Given the description of an element on the screen output the (x, y) to click on. 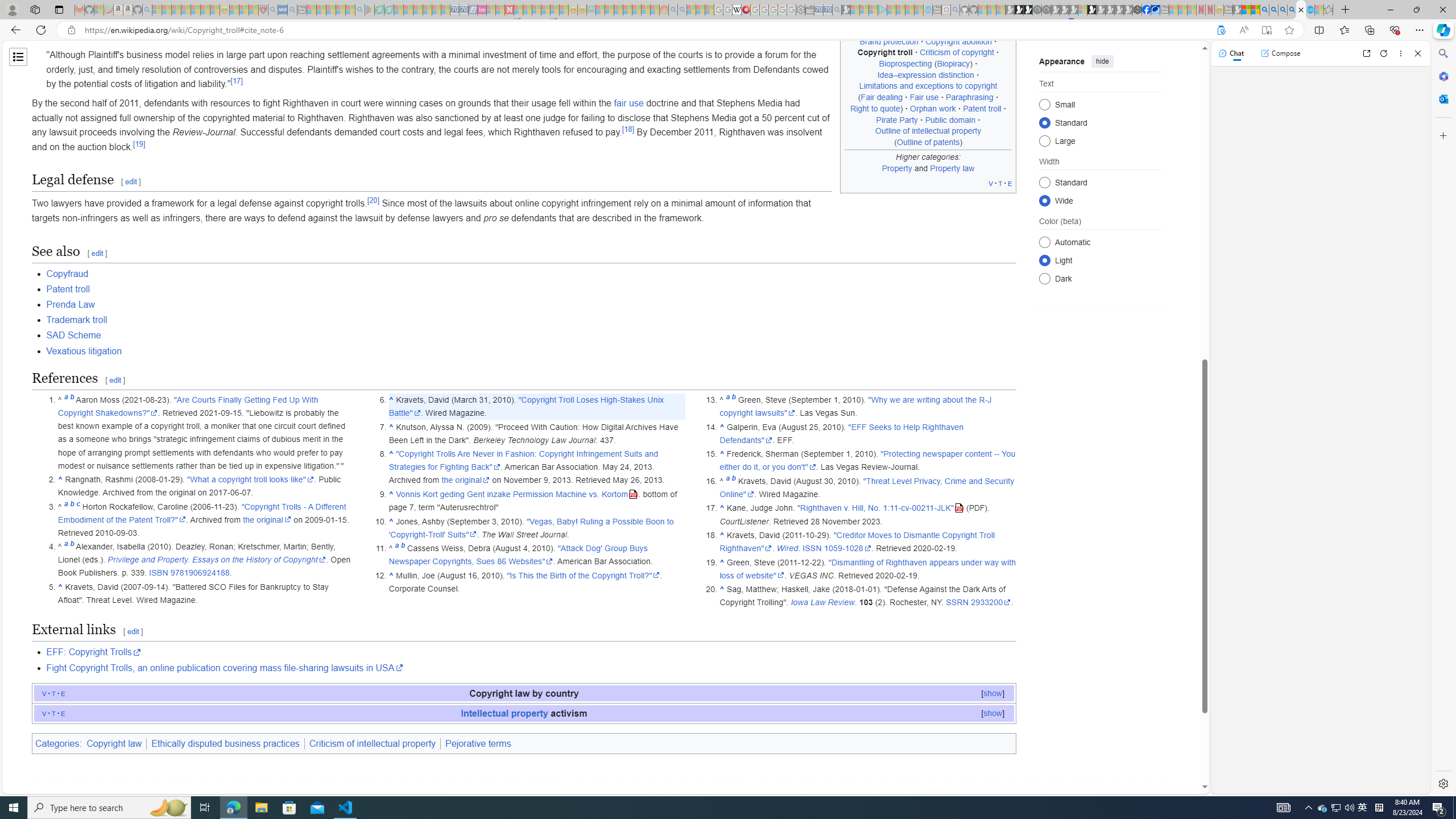
Patent troll (531, 288)
Wallet - Sleeping (809, 9)
Future Focus Report 2024 - Sleeping (1045, 9)
Fair use (924, 97)
Right to quote (874, 108)
Personal Profile (12, 9)
Open link in new tab (1366, 53)
Google Chrome Internet Browser Download - Search Images (1291, 9)
github - Search - Sleeping (954, 9)
Sign in to your account - Sleeping (1082, 9)
ISSN (811, 548)
Microsoft Start Gaming - Sleeping (846, 9)
